Given the description of an element on the screen output the (x, y) to click on. 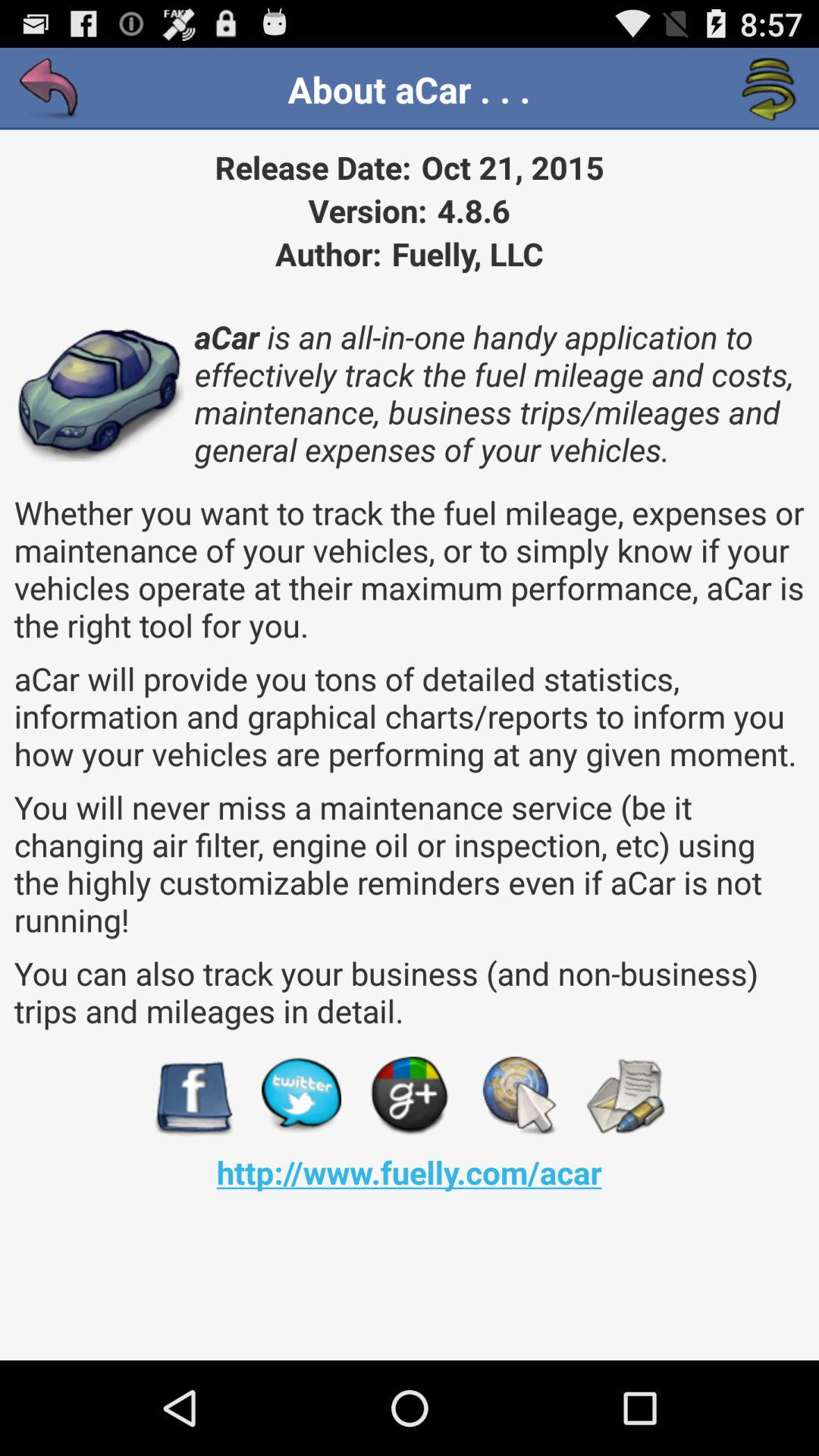
google plus (409, 1096)
